Given the description of an element on the screen output the (x, y) to click on. 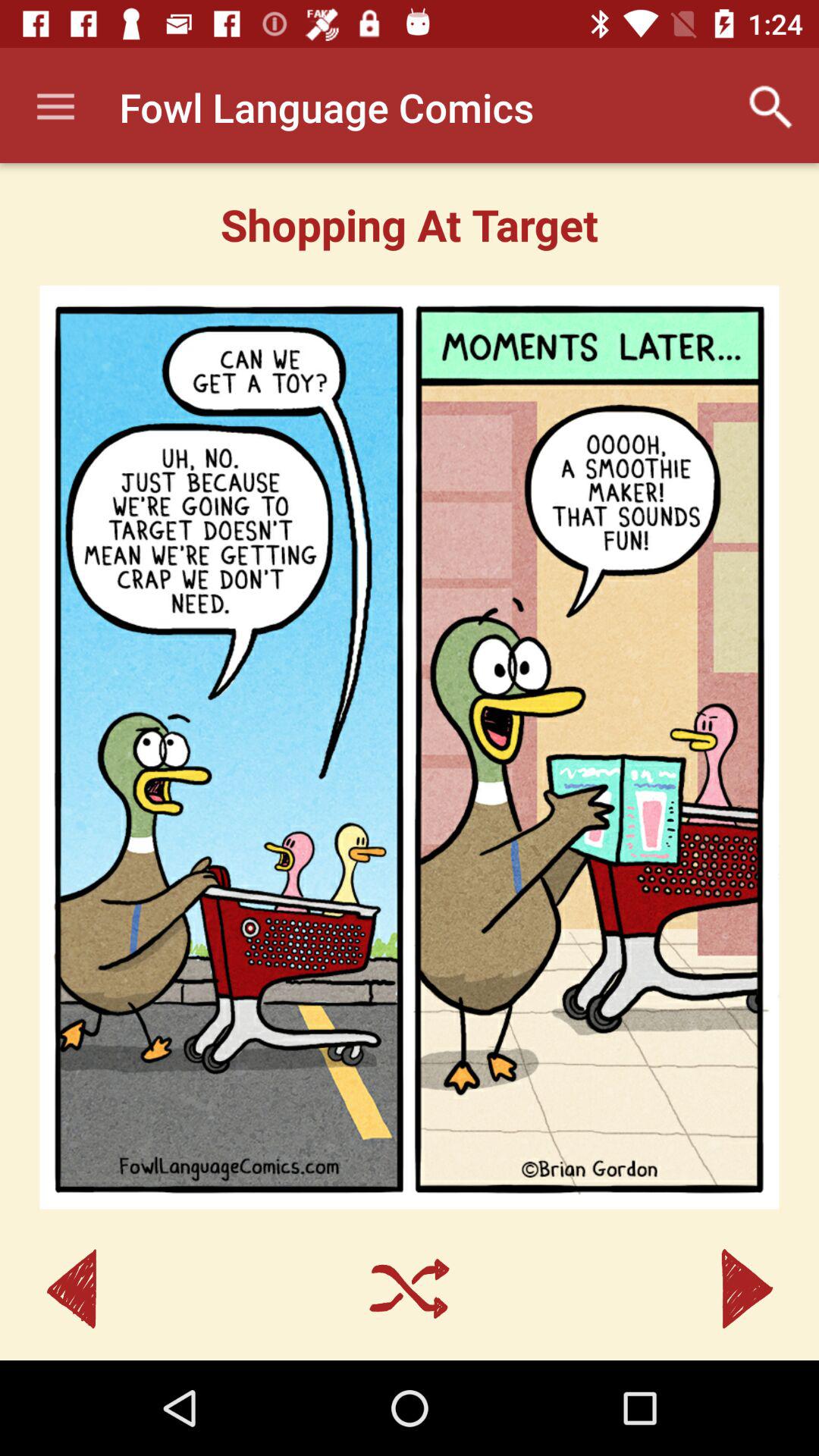
turn off item at the center (409, 747)
